Given the description of an element on the screen output the (x, y) to click on. 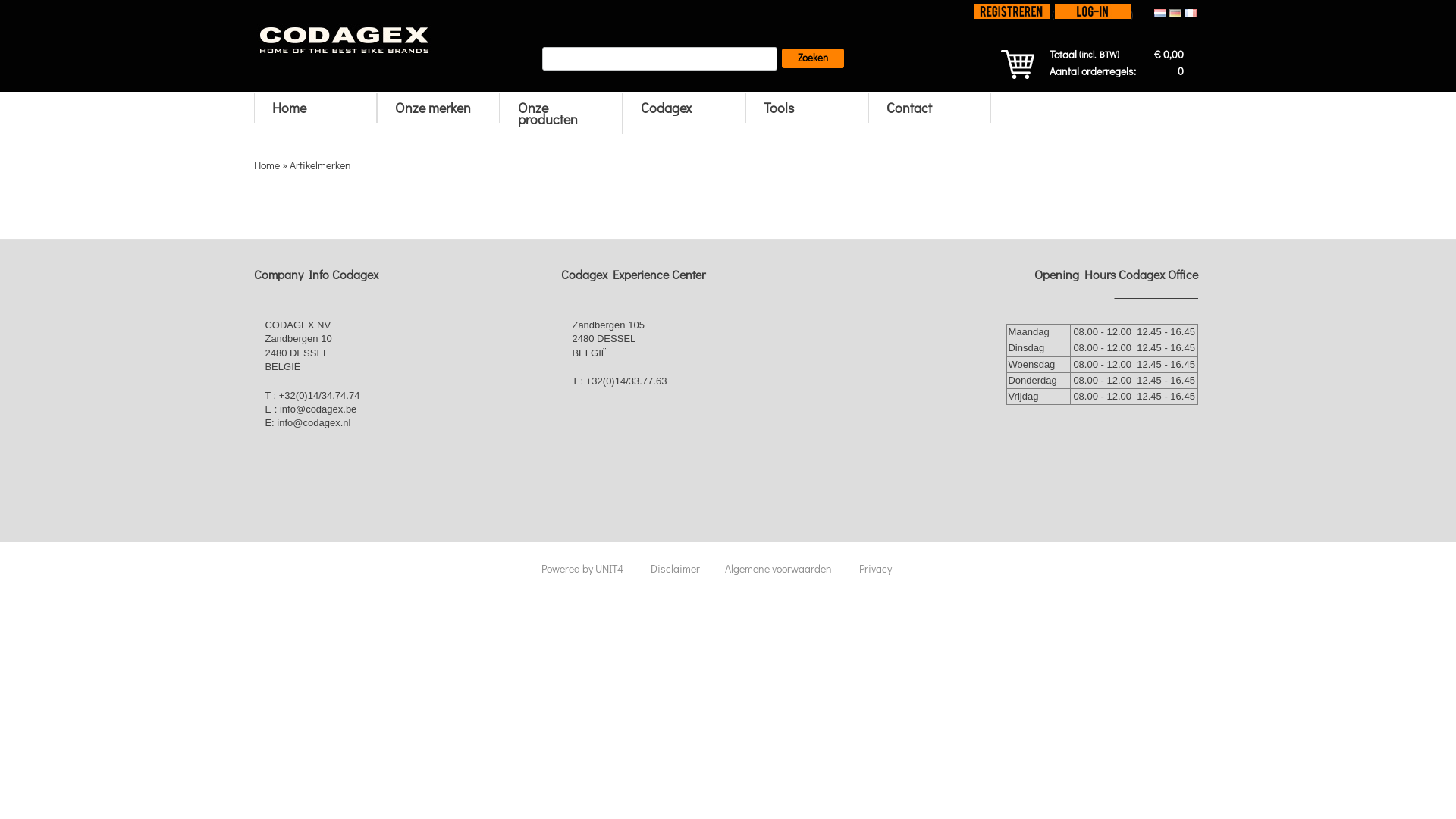
info@codagex.nl Element type: text (313, 422)
Privacy Element type: text (886, 568)
info@codagex.be Element type: text (317, 408)
Nederlands Element type: hover (1160, 13)
Contact Element type: text (929, 107)
Algemene voorwaarden Element type: text (789, 568)
Home Element type: text (270, 164)
UNIT4 Element type: text (620, 568)
Disclaimer Element type: text (686, 568)
Onze merken Element type: text (437, 107)
Home Element type: text (315, 107)
Zoeken Element type: text (812, 58)
Deutsch Element type: hover (1175, 13)
